Given the description of an element on the screen output the (x, y) to click on. 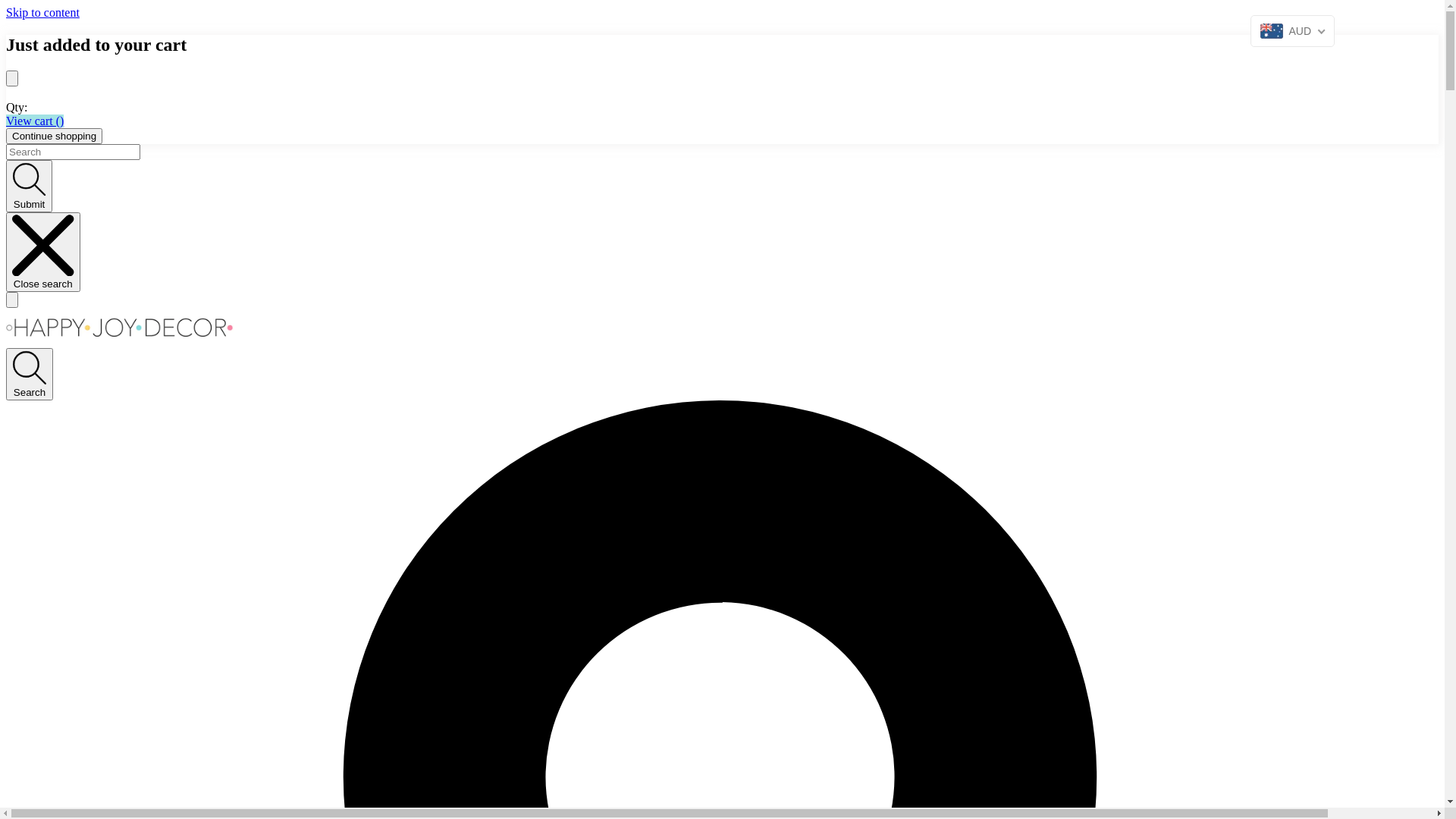
Close search Element type: text (43, 252)
View cart () Element type: text (34, 120)
Continue shopping Element type: text (54, 136)
Skip to content Element type: text (42, 12)
